Given the description of an element on the screen output the (x, y) to click on. 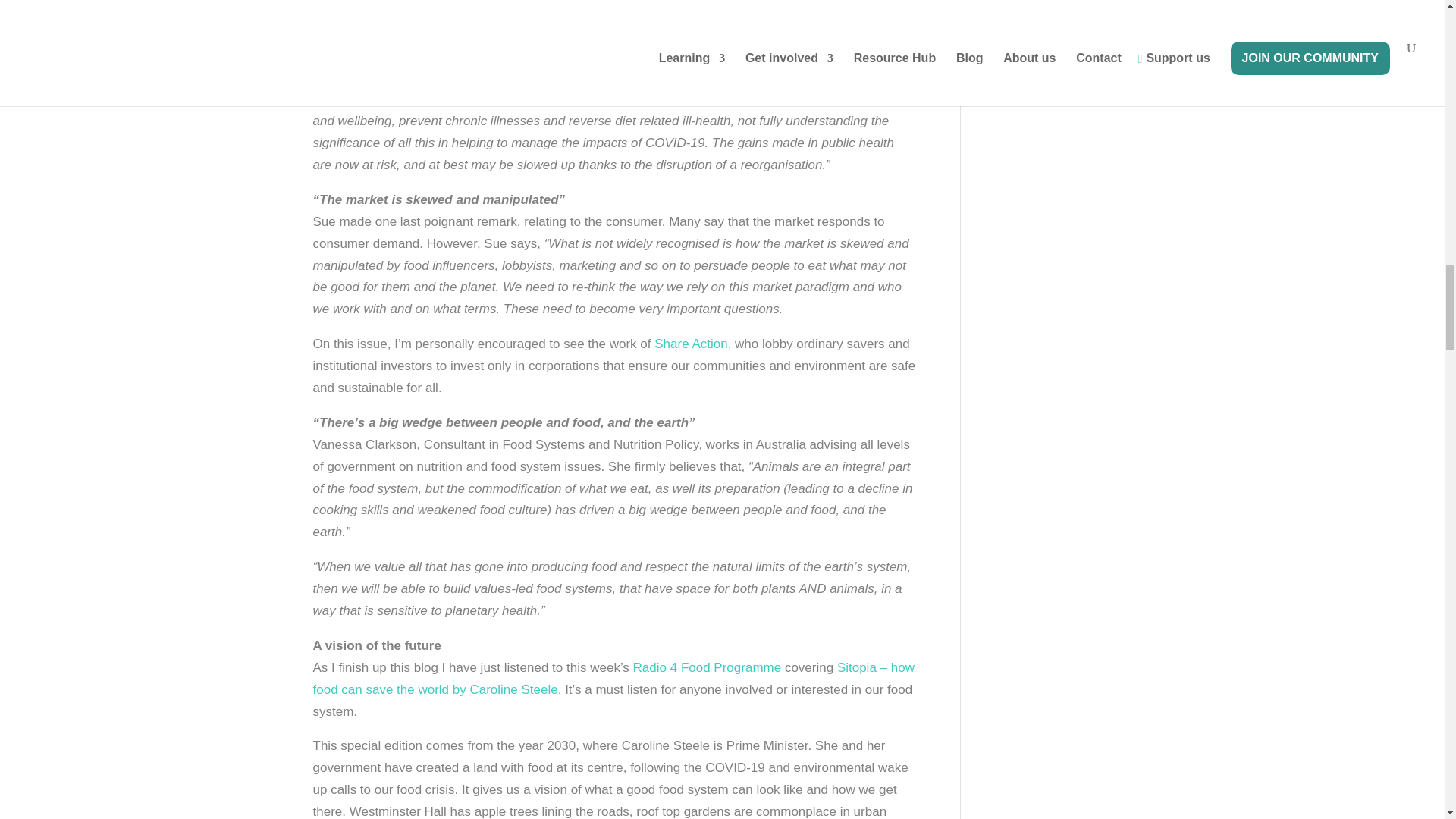
Share Action, (691, 343)
Radio 4 Food Programme (707, 667)
